Given the description of an element on the screen output the (x, y) to click on. 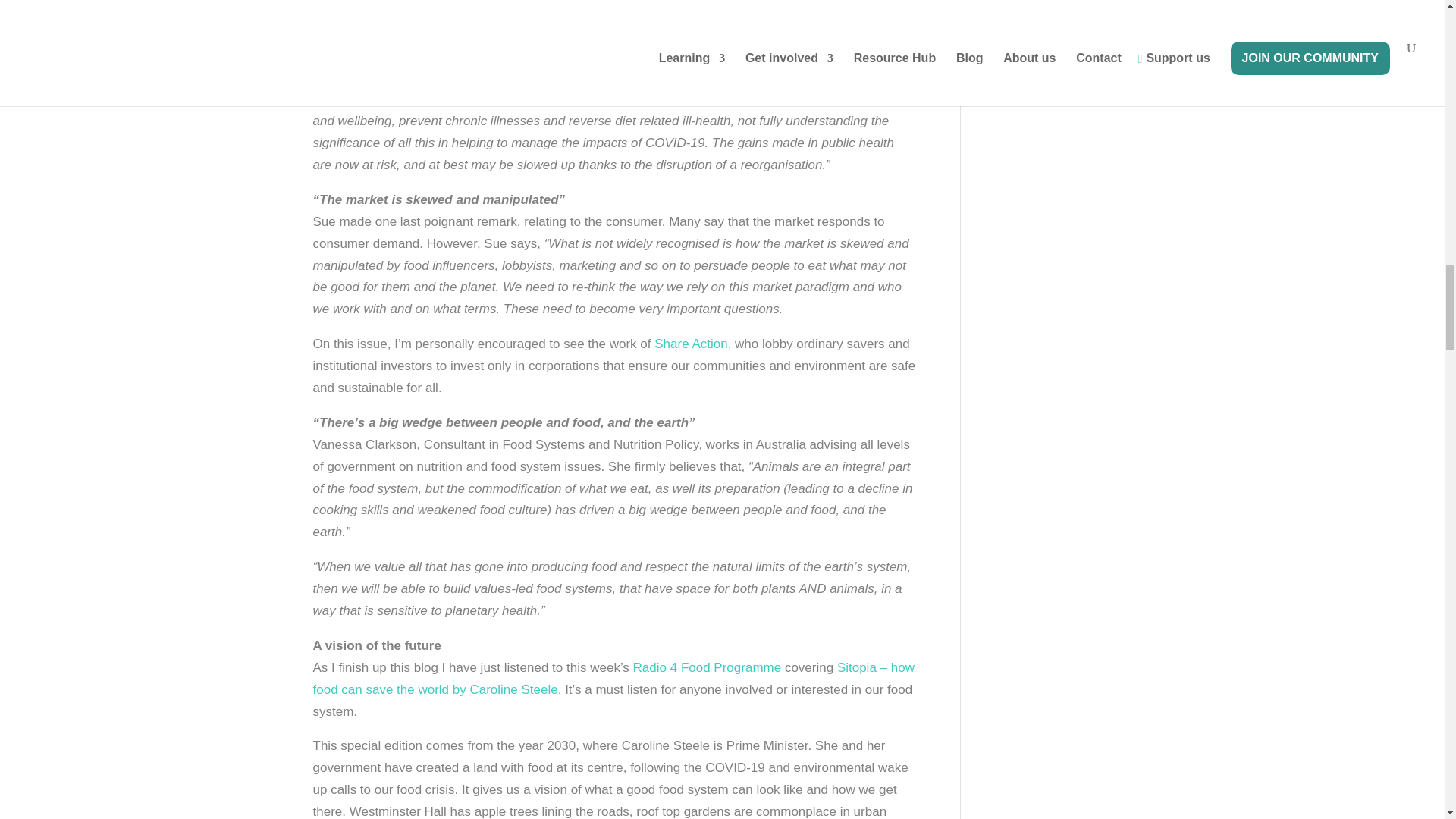
Share Action, (691, 343)
Radio 4 Food Programme (707, 667)
